Given the description of an element on the screen output the (x, y) to click on. 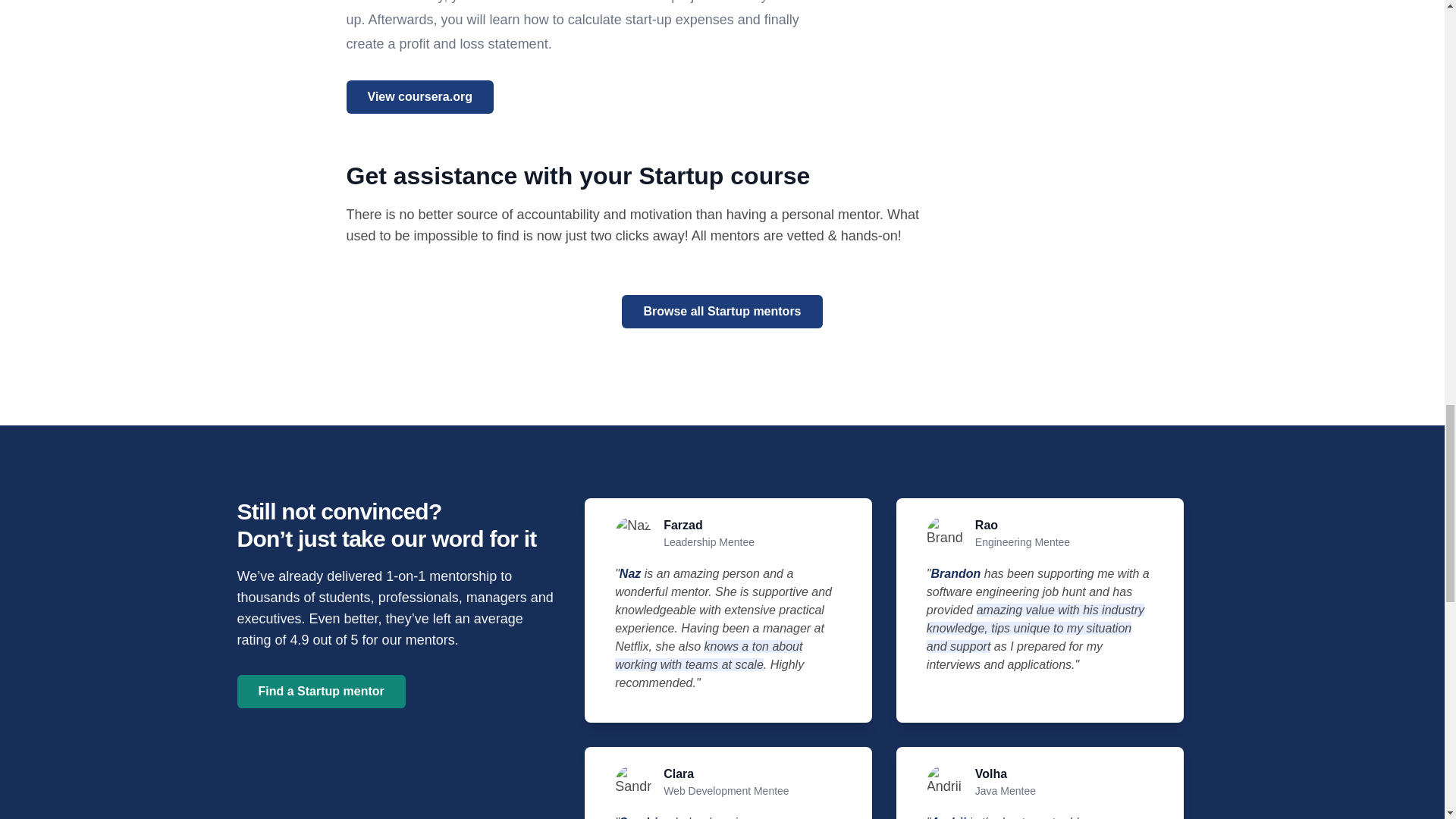
View coursera.org (419, 96)
Naz (632, 573)
Java Mentee (1005, 790)
Sandrina (647, 817)
Browse all Startup mentors (721, 311)
Andrii (950, 817)
Web Development Mentee (726, 790)
Engineering Mentee (1022, 541)
Brandon (957, 573)
Find a Startup mentor (319, 691)
